Given the description of an element on the screen output the (x, y) to click on. 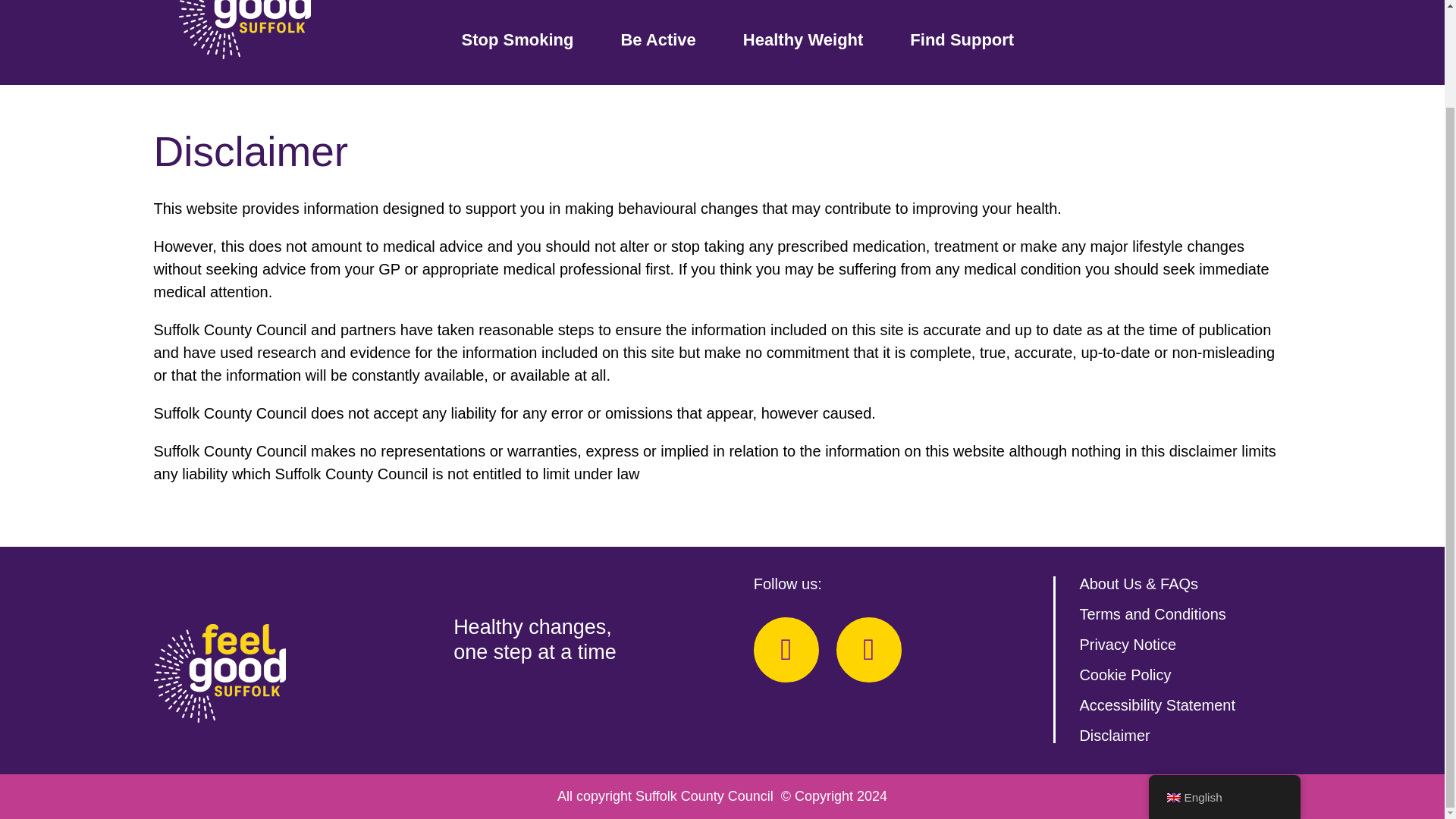
English (1172, 684)
Find Support (961, 42)
Link opens a PDF in a new window (1156, 704)
Healthy Weight (802, 42)
Stop Smoking (517, 42)
Terms and Conditions (1151, 614)
Cookie Policy (1124, 674)
Instagram (868, 649)
Privacy Notice (1127, 644)
Follow on Facebook (786, 649)
Follow on Instagram (868, 649)
Facebook (786, 649)
Disclaimer (1114, 735)
Accessibility Statement (1156, 704)
Go to the home page (245, 29)
